Given the description of an element on the screen output the (x, y) to click on. 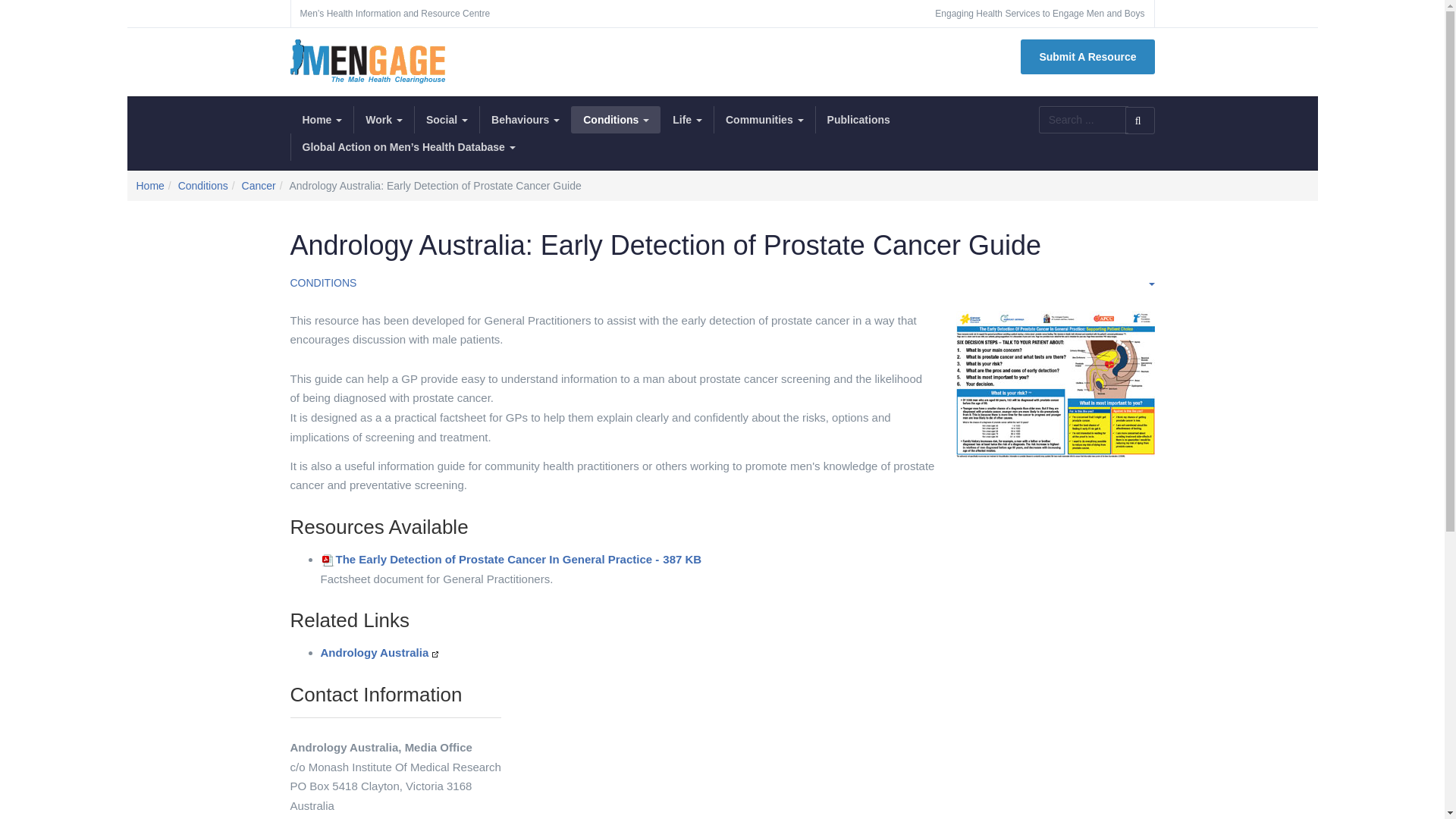
Submit A Resource Element type: text (1087, 56)
Andrology Australia Element type: text (374, 652)
Publications Element type: text (858, 119)
Conditions Element type: text (203, 185)
Life Element type: text (686, 119)
Cancer Element type: text (258, 185)
Search Element type: text (1139, 120)
Behaviours Element type: text (525, 119)
Social Element type: text (446, 119)
Home Element type: text (321, 119)
Communities Element type: text (764, 119)
Home Element type: text (150, 185)
Work Element type: text (383, 119)
Conditions Element type: text (615, 119)
Mengage Element type: hover (366, 61)
CONDITIONS Element type: text (322, 282)
Empty Element type: text (1150, 282)
